Given the description of an element on the screen output the (x, y) to click on. 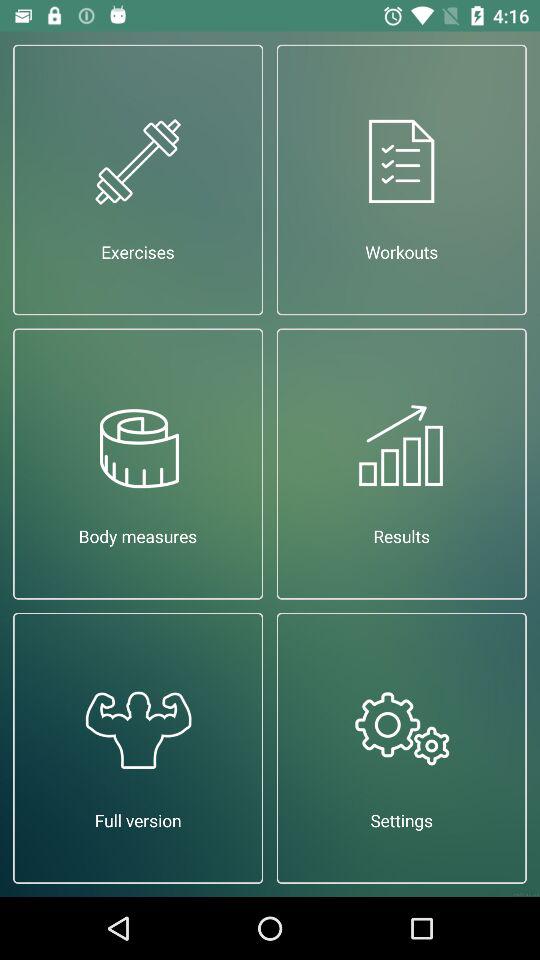
flip until the settings (401, 748)
